Given the description of an element on the screen output the (x, y) to click on. 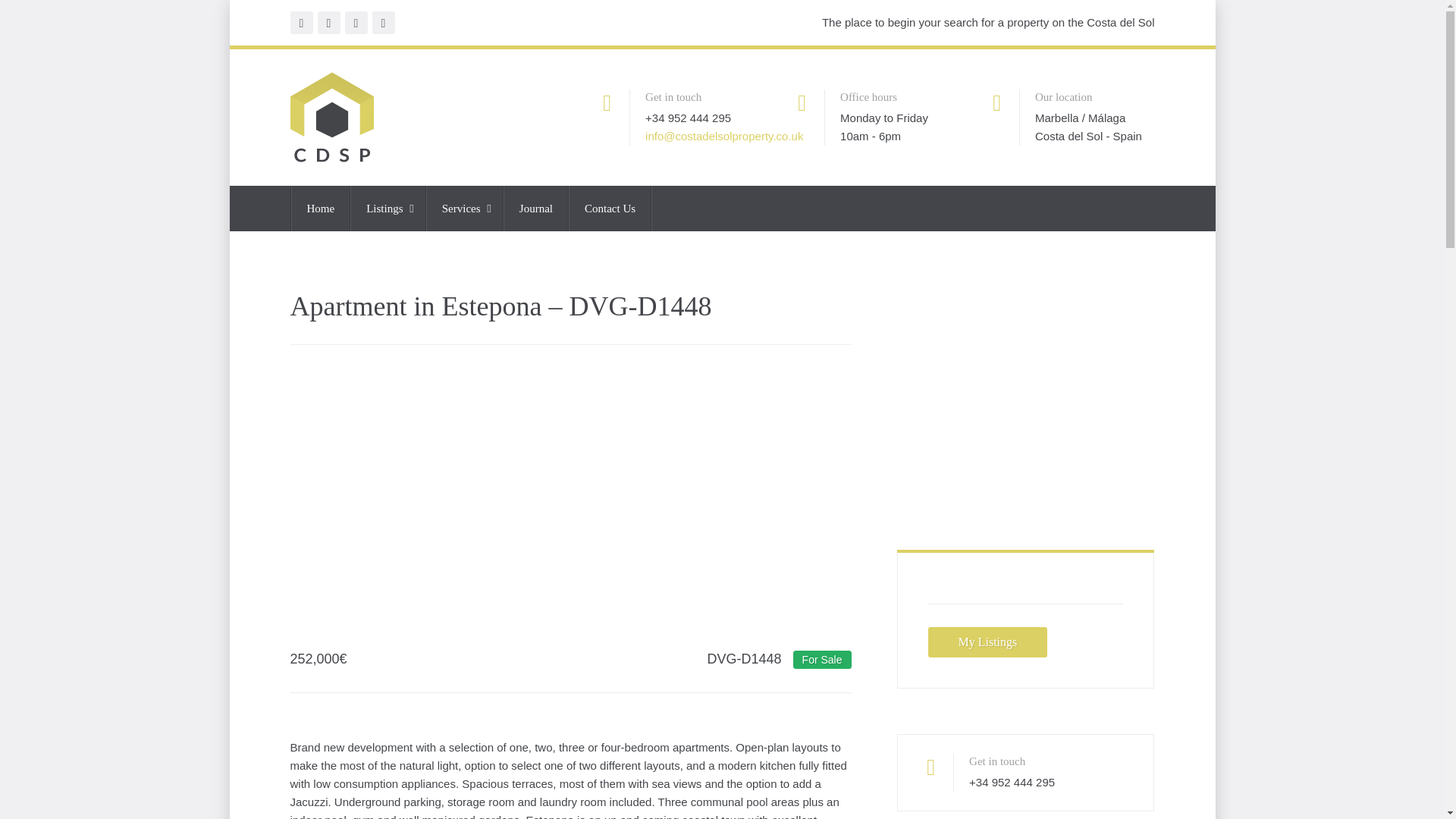
Listings (388, 207)
Services (464, 207)
Home (320, 207)
Advertisement (1025, 397)
Journal (536, 207)
Advertisement (569, 496)
Contact Us (609, 207)
